Given the description of an element on the screen output the (x, y) to click on. 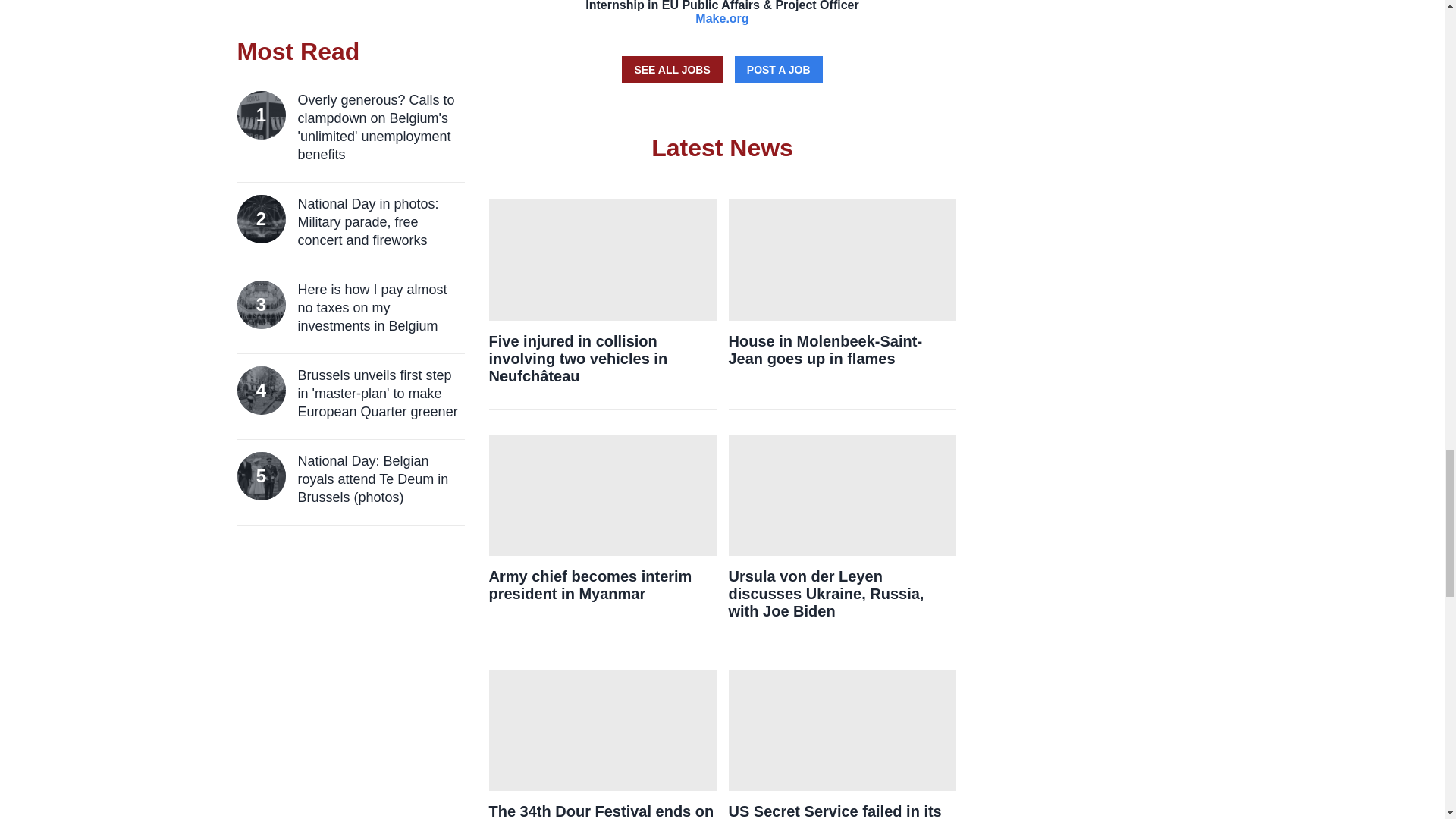
House in Molenbeek-Saint-Jean goes up in flames (841, 349)
Army chief becomes interim president in Myanmar (601, 584)
POST A JOB (778, 69)
SEE ALL JOBS (671, 69)
